Given the description of an element on the screen output the (x, y) to click on. 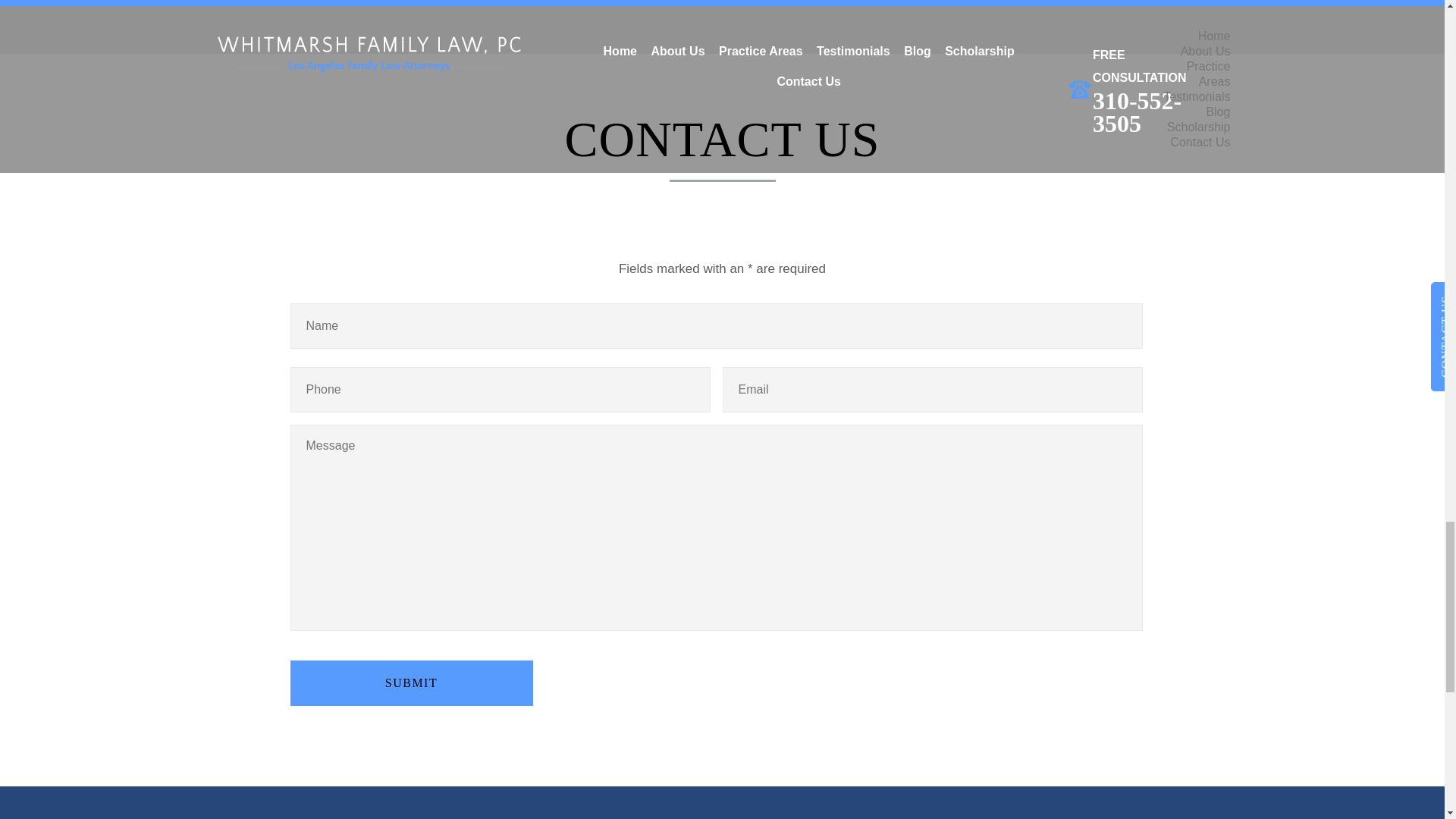
Submit (410, 682)
